Given the description of an element on the screen output the (x, y) to click on. 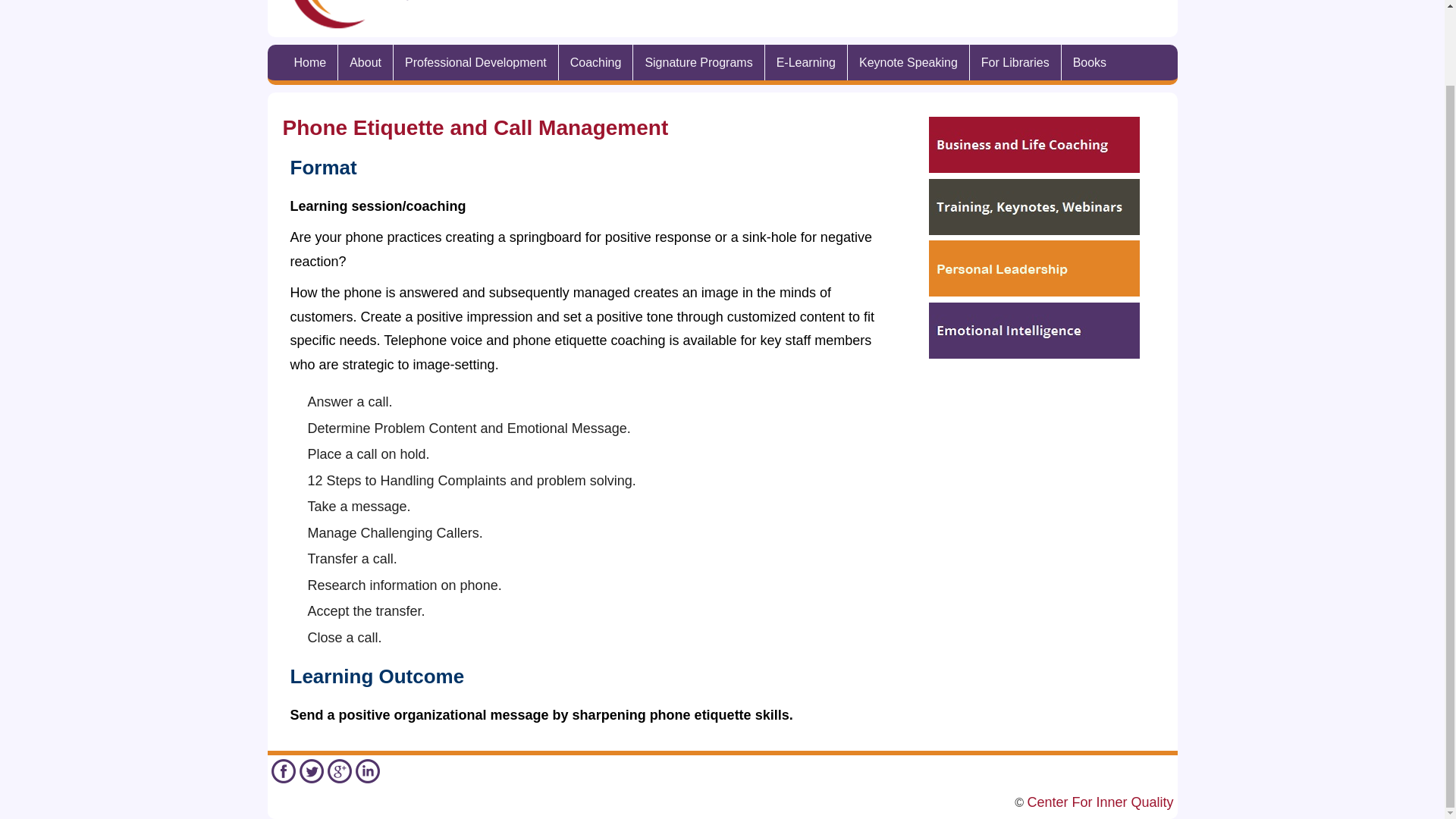
Home (309, 62)
Professional Development (475, 62)
Professional Development (475, 62)
Keynote Speaking (908, 62)
Books (1089, 62)
Home (309, 62)
Coaching (596, 62)
E-Learning (806, 62)
Signature Programs (697, 62)
Signature Programs (697, 62)
